Given the description of an element on the screen output the (x, y) to click on. 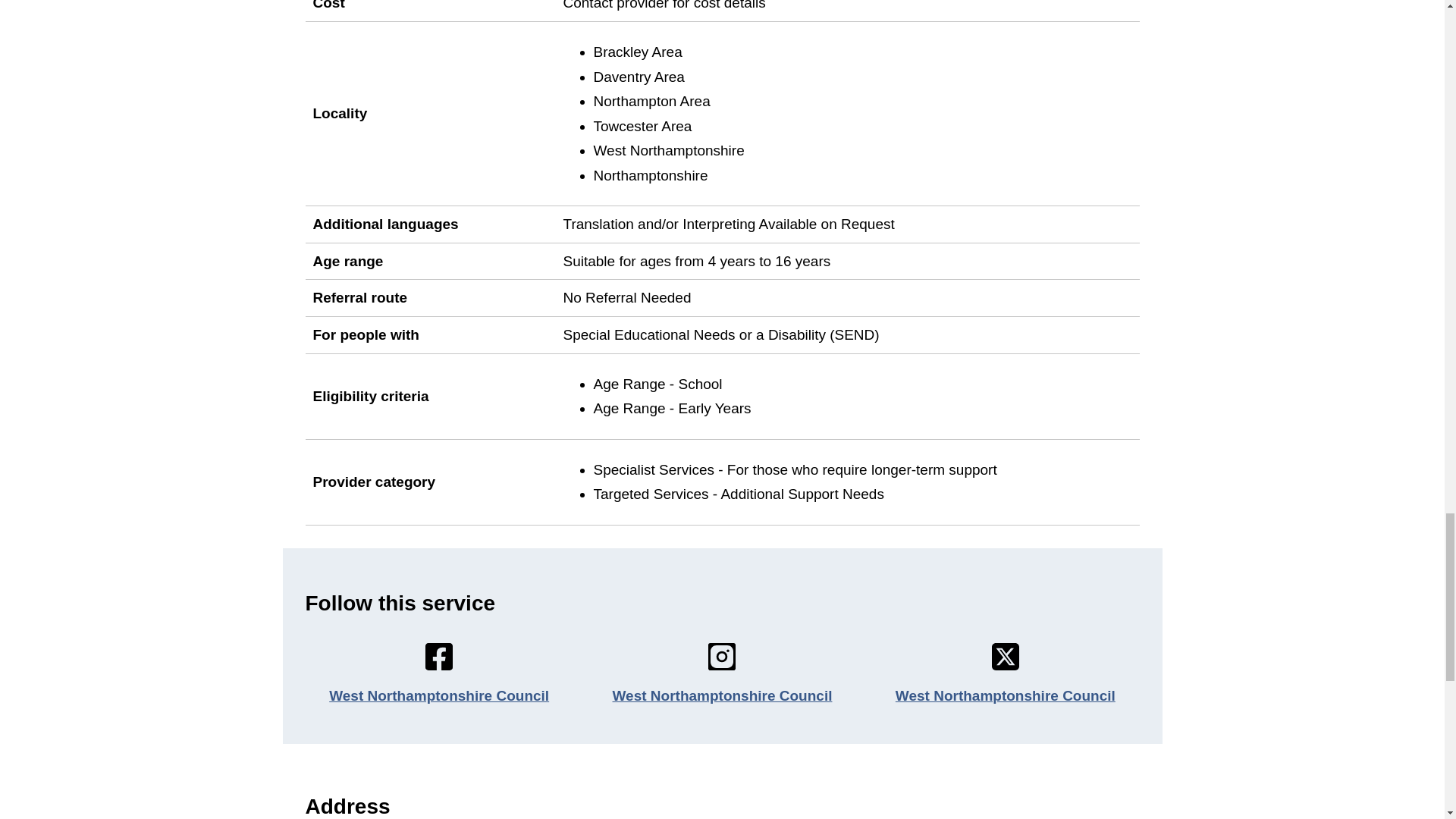
West Northamptonshire Council (438, 695)
West Northamptonshire Council (722, 695)
West Northamptonshire Council (1005, 695)
